Given the description of an element on the screen output the (x, y) to click on. 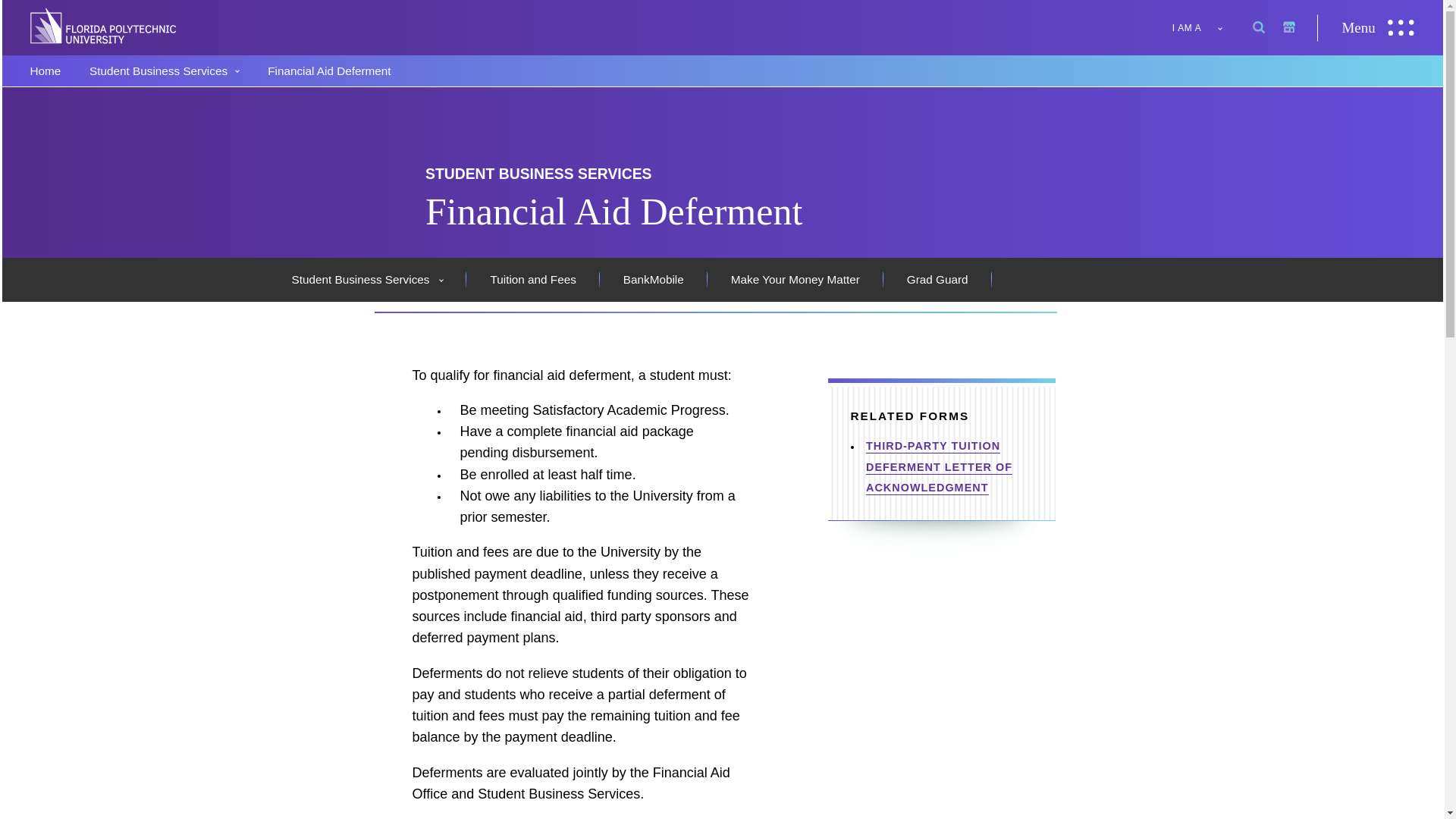
I AM A (1200, 27)
Store Search (1234, 27)
Menu (1378, 27)
Search (1204, 27)
